Given the description of an element on the screen output the (x, y) to click on. 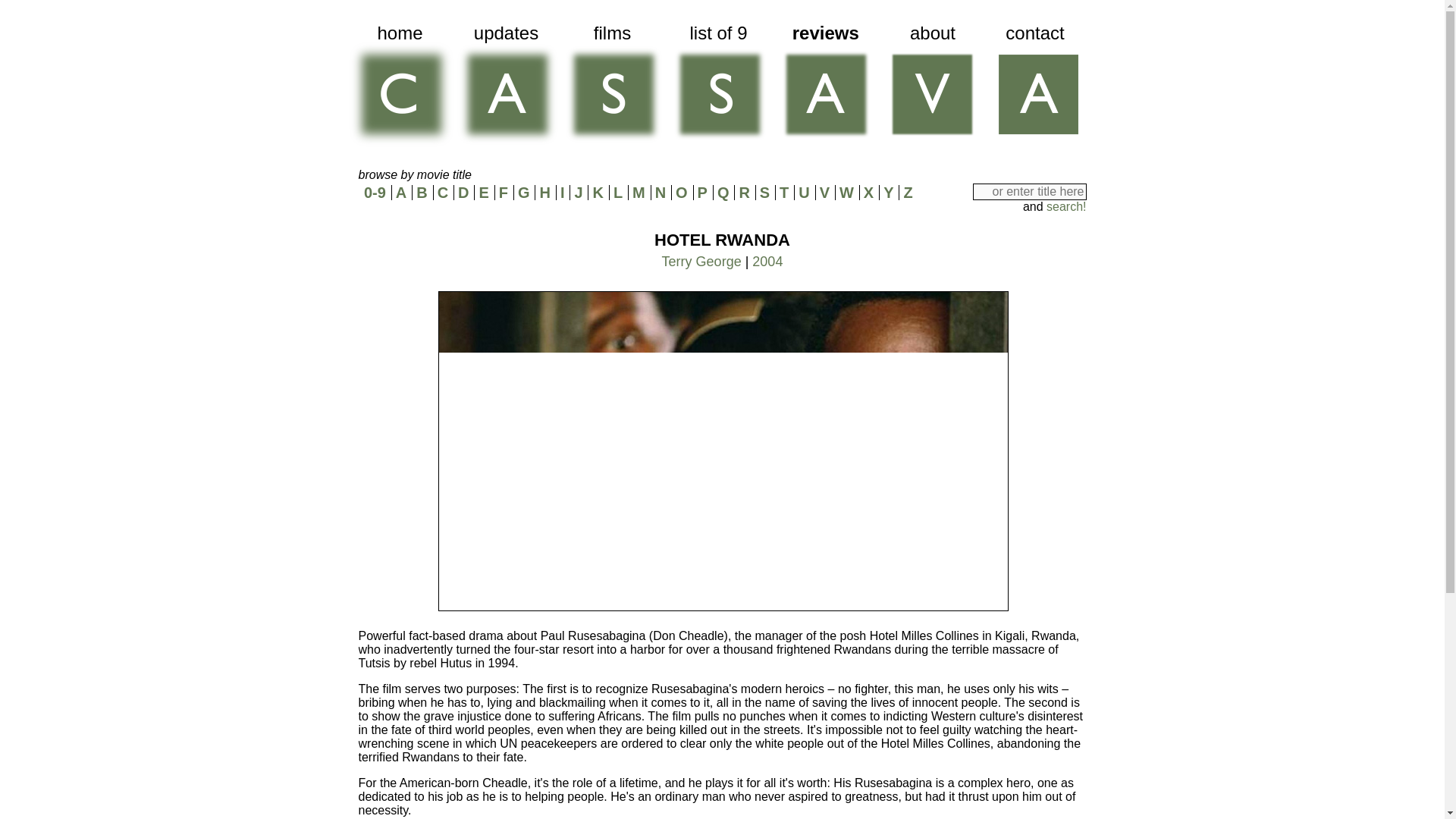
F (503, 192)
I (562, 192)
Q (723, 192)
P (702, 192)
K (597, 192)
home (399, 85)
D (463, 192)
C (443, 192)
E (483, 192)
J (577, 192)
0-9 (374, 192)
films (611, 85)
G (523, 192)
N (660, 192)
O (681, 192)
